Given the description of an element on the screen output the (x, y) to click on. 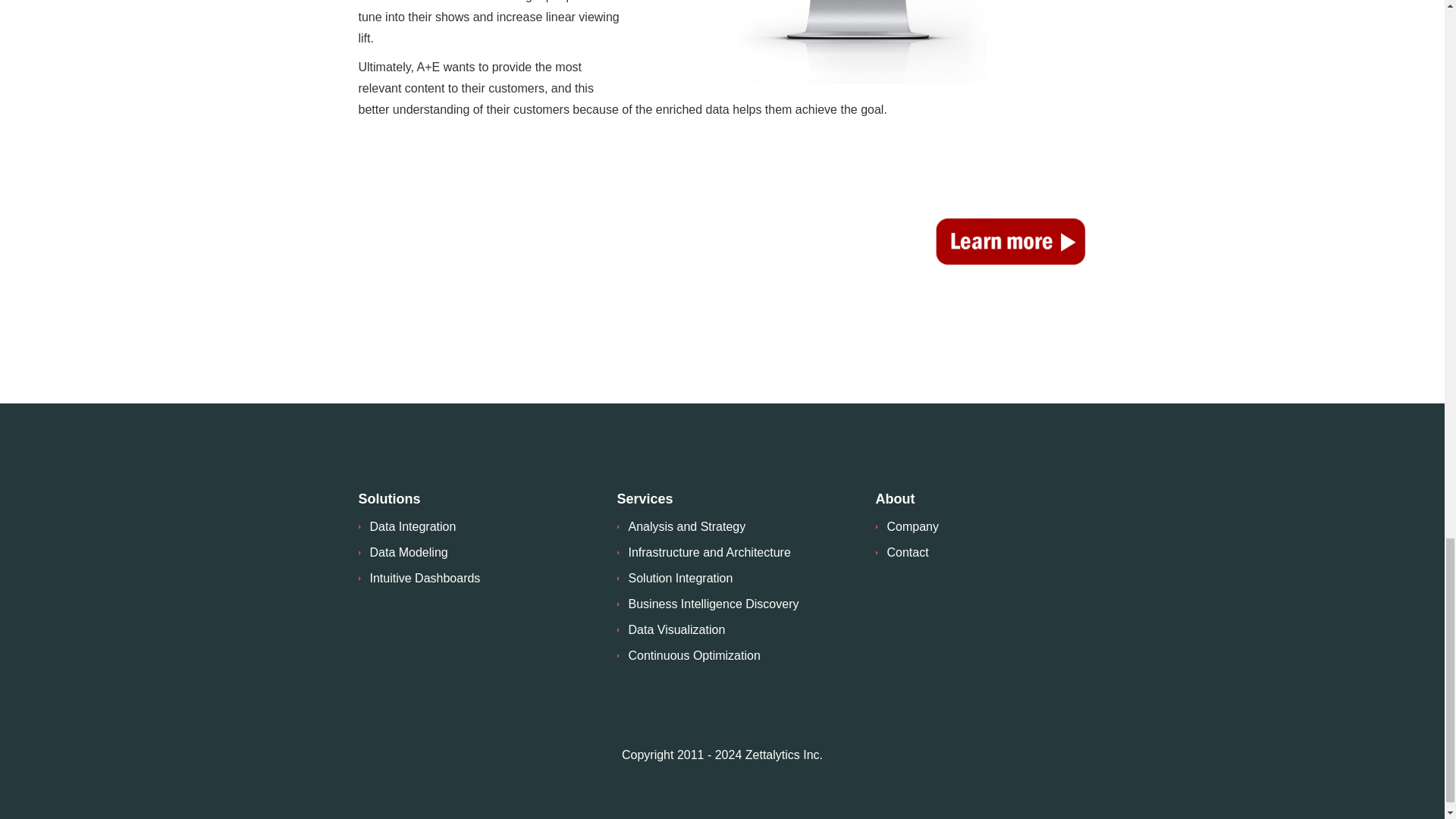
Solution Integration (679, 577)
Analysis and Strategy (686, 526)
Company (912, 526)
Data Modeling (408, 552)
Contact (907, 552)
Data Visualization (676, 629)
Business Intelligence Discovery (712, 603)
Data Integration (413, 526)
Continuous Optimization (693, 655)
Infrastructure and Architecture (708, 552)
Intuitive Dashboards (424, 577)
